Given the description of an element on the screen output the (x, y) to click on. 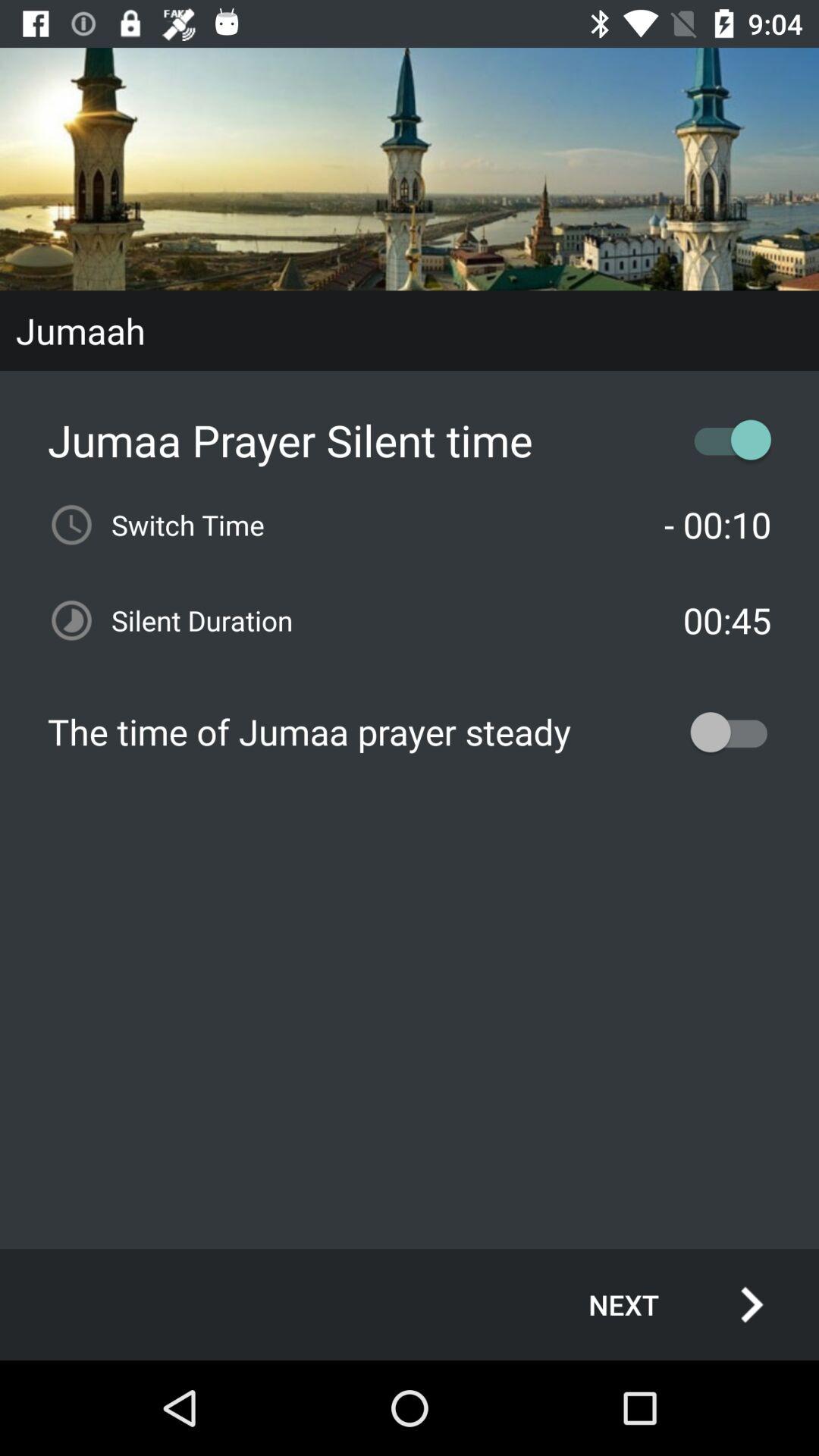
press the icon below 00:45 (409, 731)
